Given the description of an element on the screen output the (x, y) to click on. 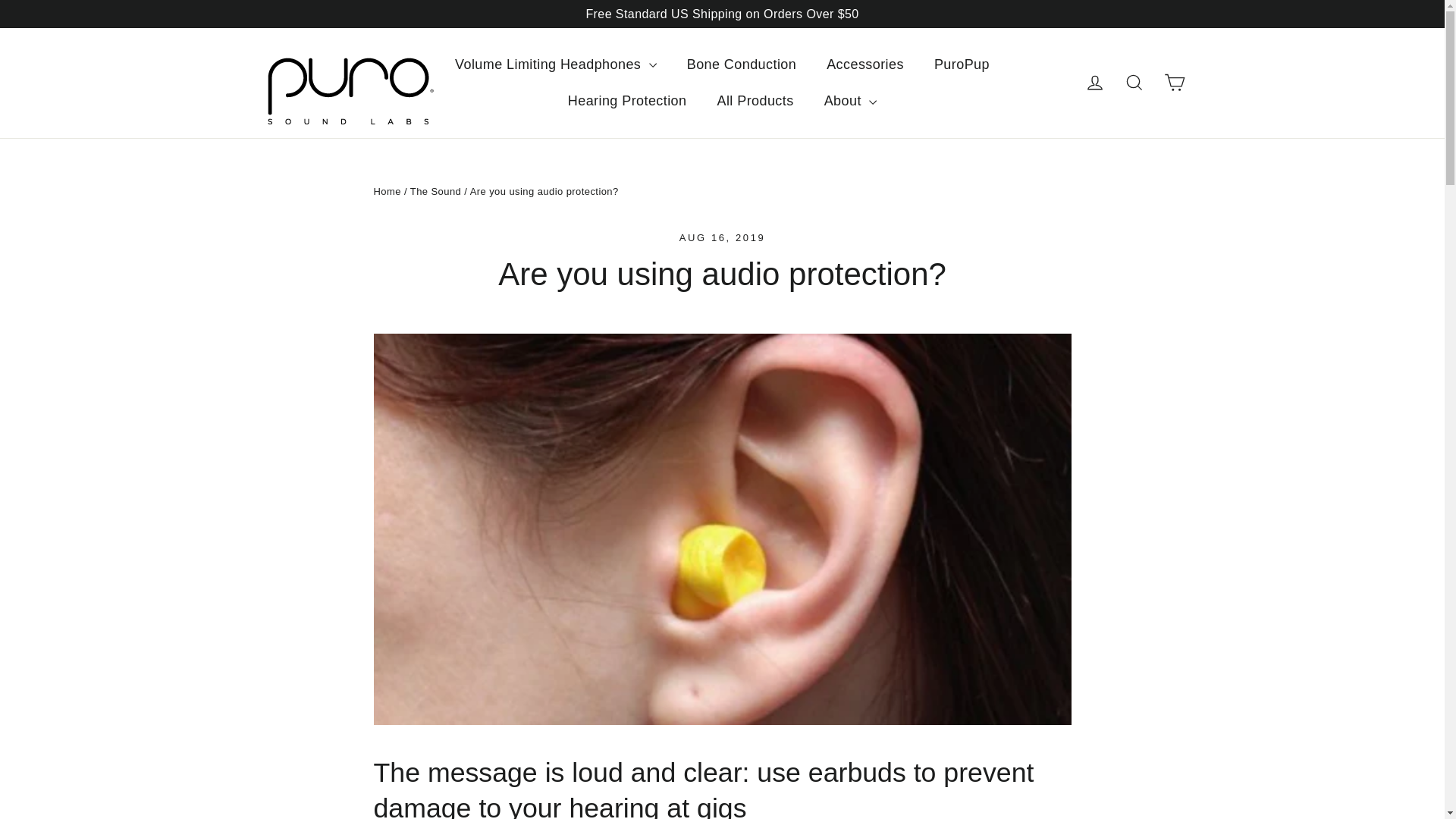
All Products (755, 100)
Hearing Protection (627, 100)
About (850, 100)
PuroPup (961, 64)
Back to the frontpage (386, 191)
Accessories (864, 64)
Volume Limiting Headphones (555, 64)
Bone Conduction (740, 64)
